Given the description of an element on the screen output the (x, y) to click on. 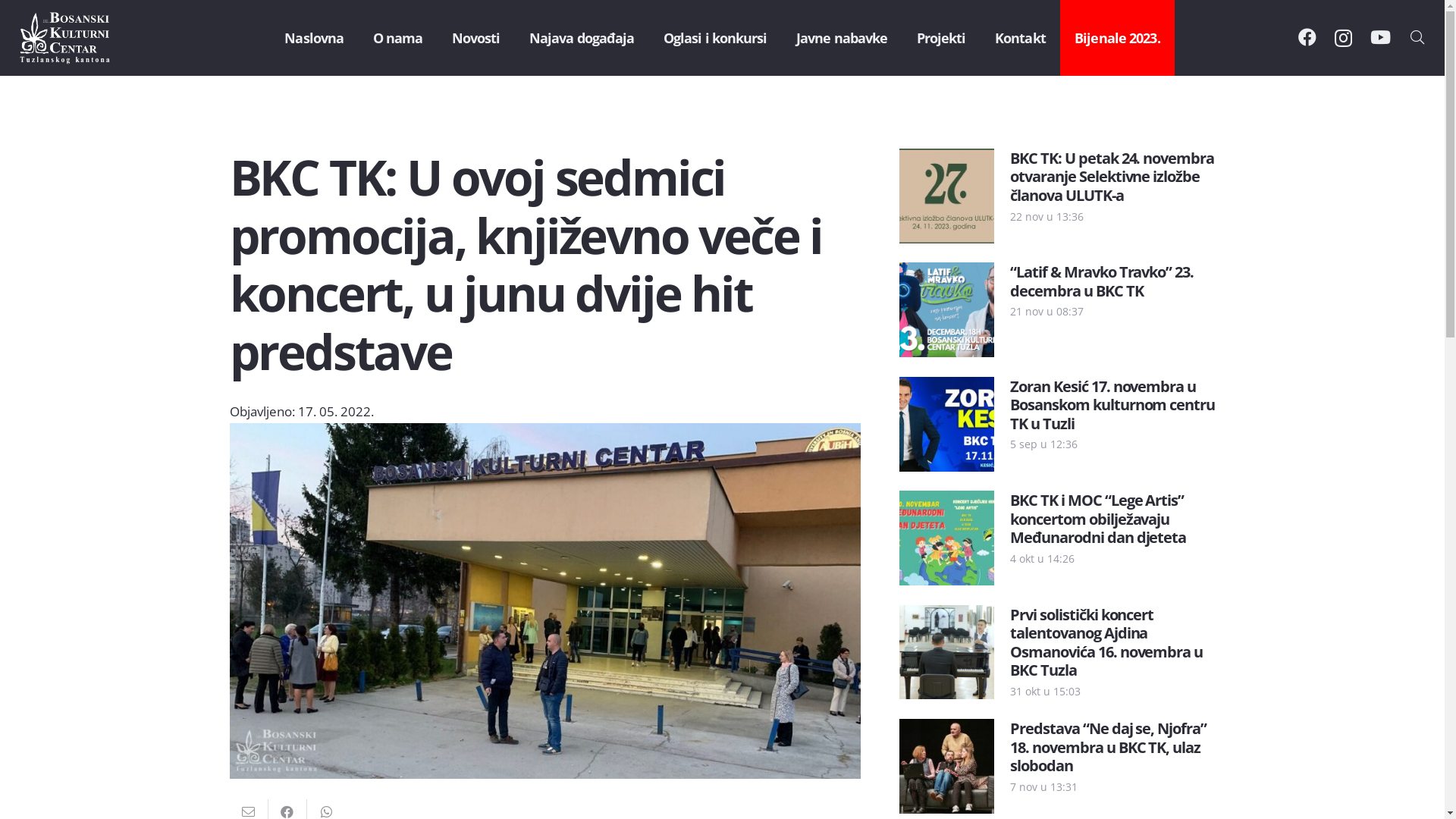
O nama Element type: text (396, 37)
Bijenale 2023. Element type: text (1117, 37)
Naslovna Element type: text (313, 37)
Instagram Element type: hover (1343, 37)
Oglasi i konkursi Element type: text (715, 37)
Kontakt Element type: text (1020, 37)
YouTube Element type: hover (1380, 37)
Projekti Element type: text (941, 37)
Javne nabavke Element type: text (841, 37)
Facebook Element type: hover (1307, 37)
Novosti Element type: text (475, 37)
